Given the description of an element on the screen output the (x, y) to click on. 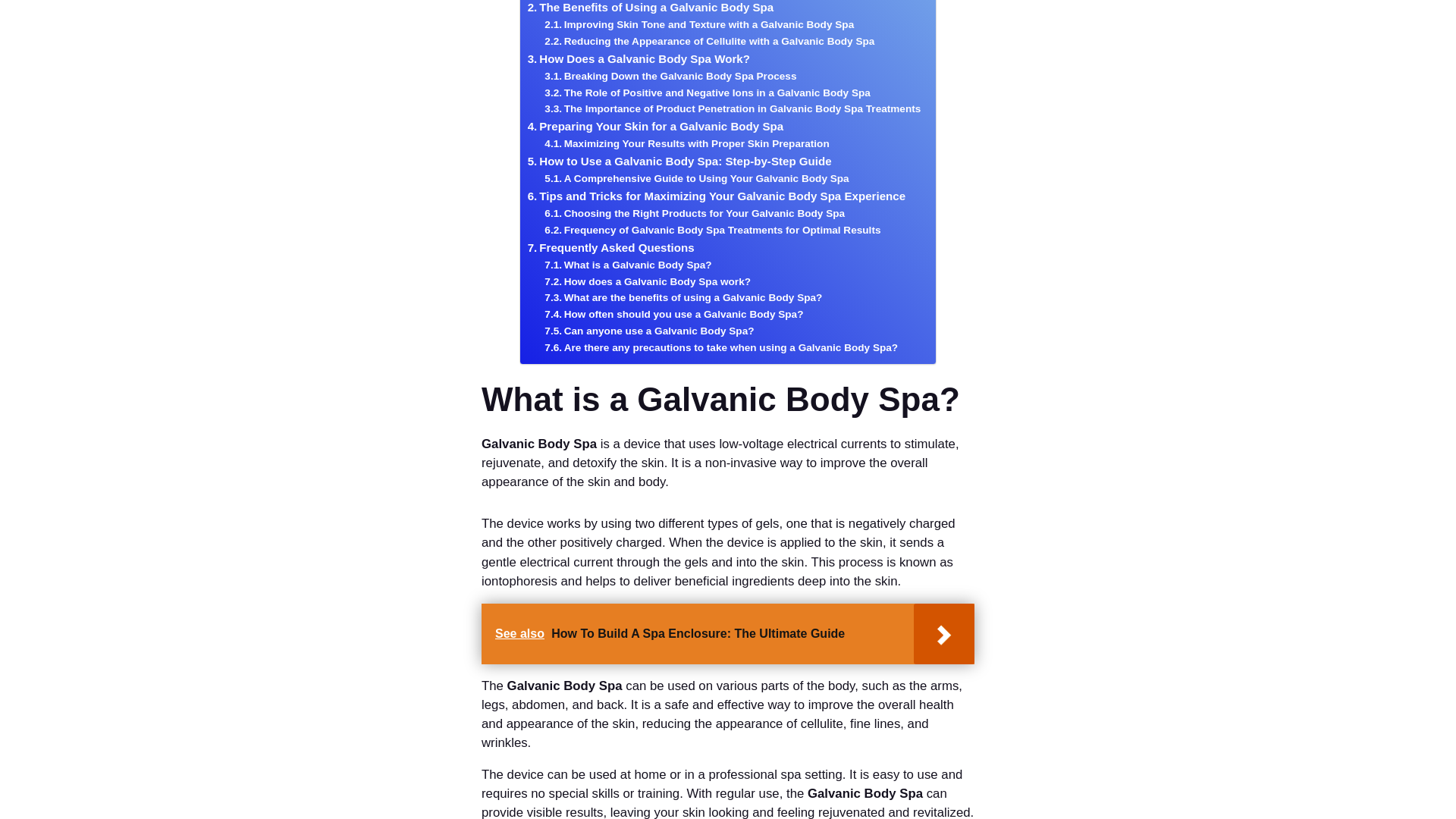
The Benefits of Using a Galvanic Body Spa (650, 8)
Choosing the Right Products for Your Galvanic Body Spa (694, 213)
How Does a Galvanic Body Spa Work? (638, 58)
Improving Skin Tone and Texture with a Galvanic Body Spa (698, 24)
Choosing the Right Products for Your Galvanic Body Spa (694, 213)
How Does a Galvanic Body Spa Work? (638, 58)
Maximizing Your Results with Proper Skin Preparation (686, 143)
How to Use a Galvanic Body Spa: Step-by-Step Guide (679, 161)
Preparing Your Skin for a Galvanic Body Spa (655, 126)
How to Use a Galvanic Body Spa: Step-by-Step Guide (679, 161)
